Given the description of an element on the screen output the (x, y) to click on. 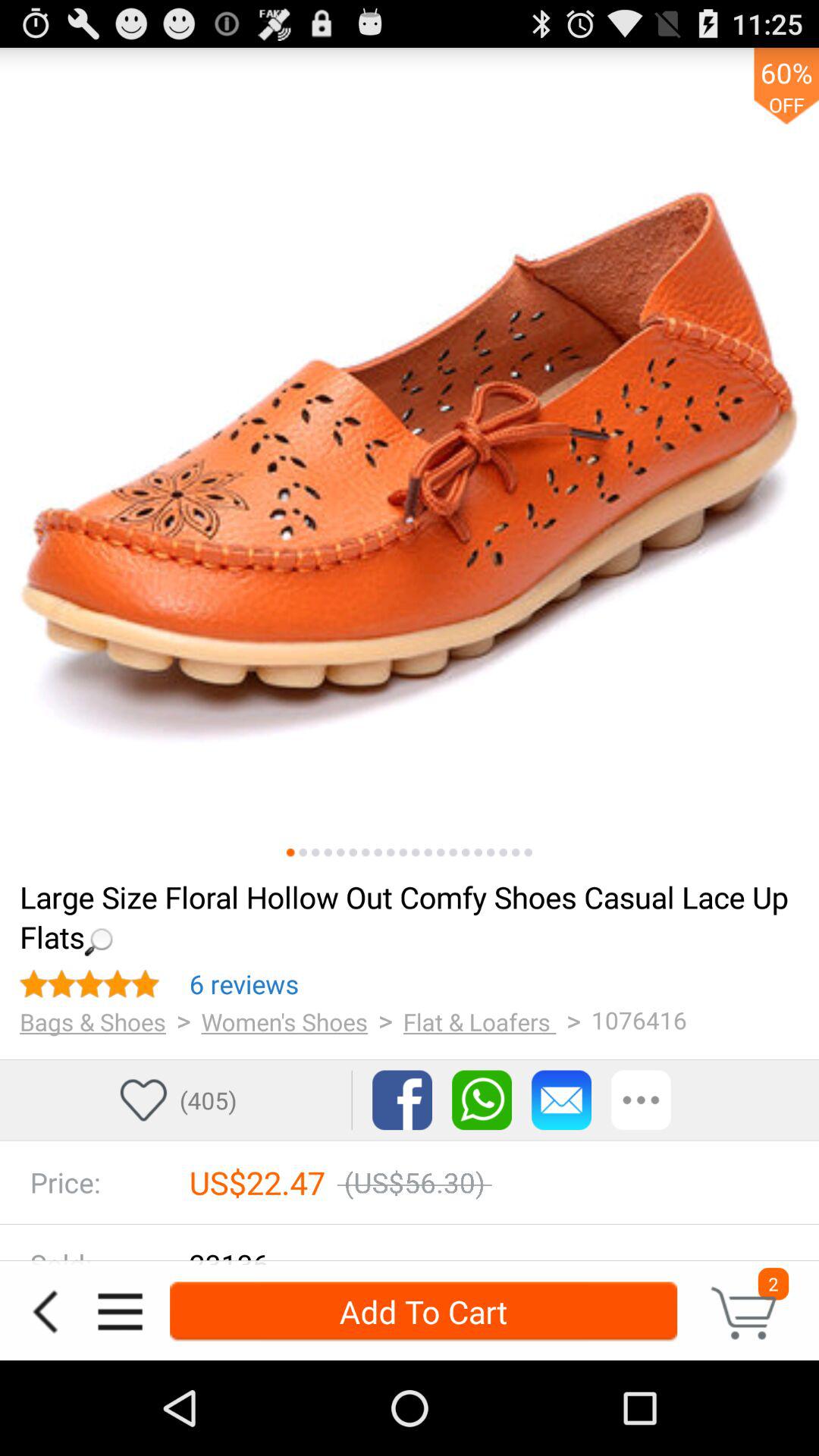
press item above the loading... icon (453, 852)
